Given the description of an element on the screen output the (x, y) to click on. 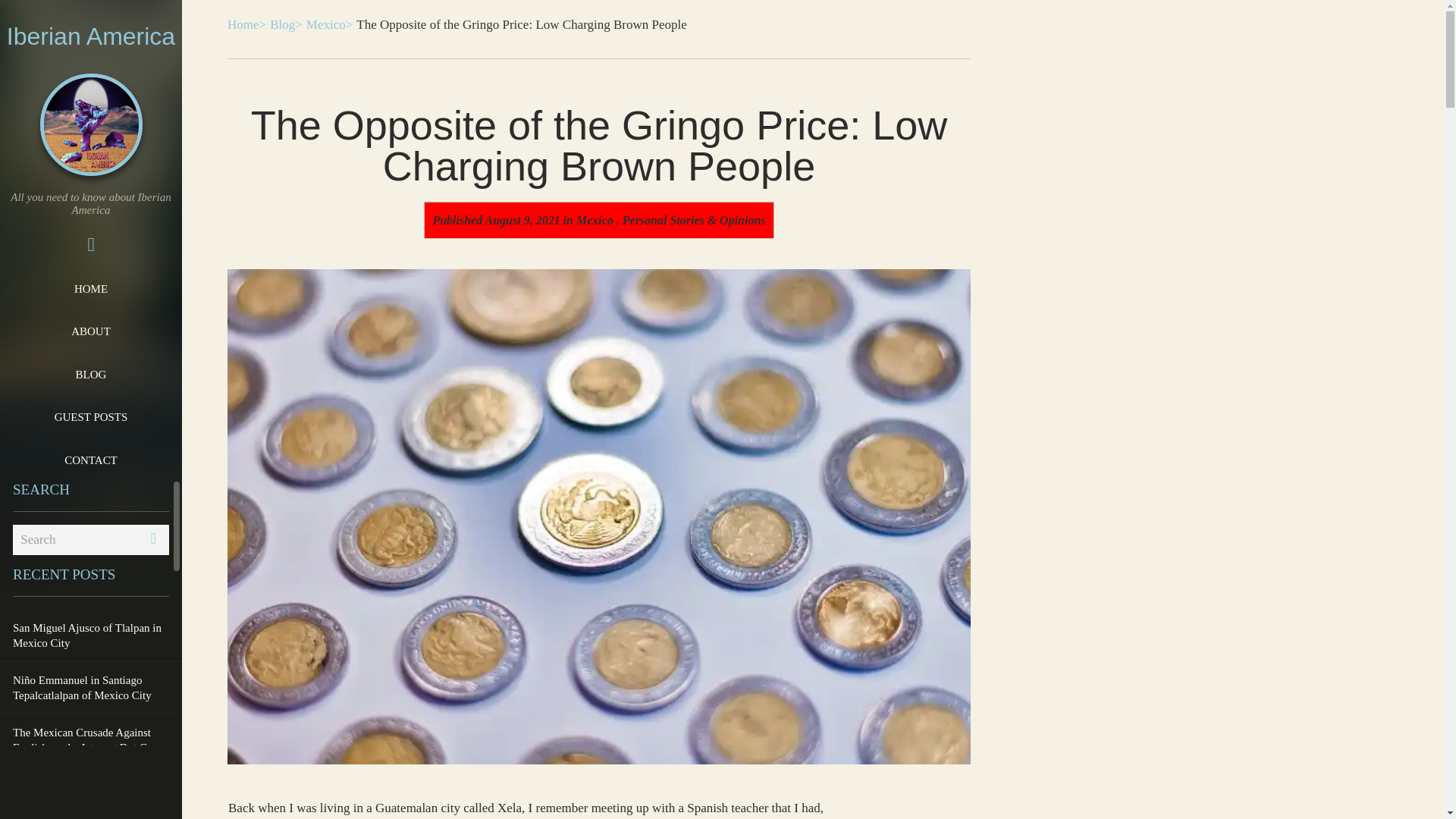
The Mexican Crusade Against English on the Internet Dot Com (90, 739)
Iberian America (90, 35)
BLOG (91, 373)
San Miguel Ajusco of Tlalpan in Mexico City (90, 634)
Mexico (594, 219)
HOME (91, 288)
CONTACT (91, 459)
ABOUT (91, 331)
GUEST POSTS (91, 416)
The Mexican Love for a Strong Peso (90, 792)
